Given the description of an element on the screen output the (x, y) to click on. 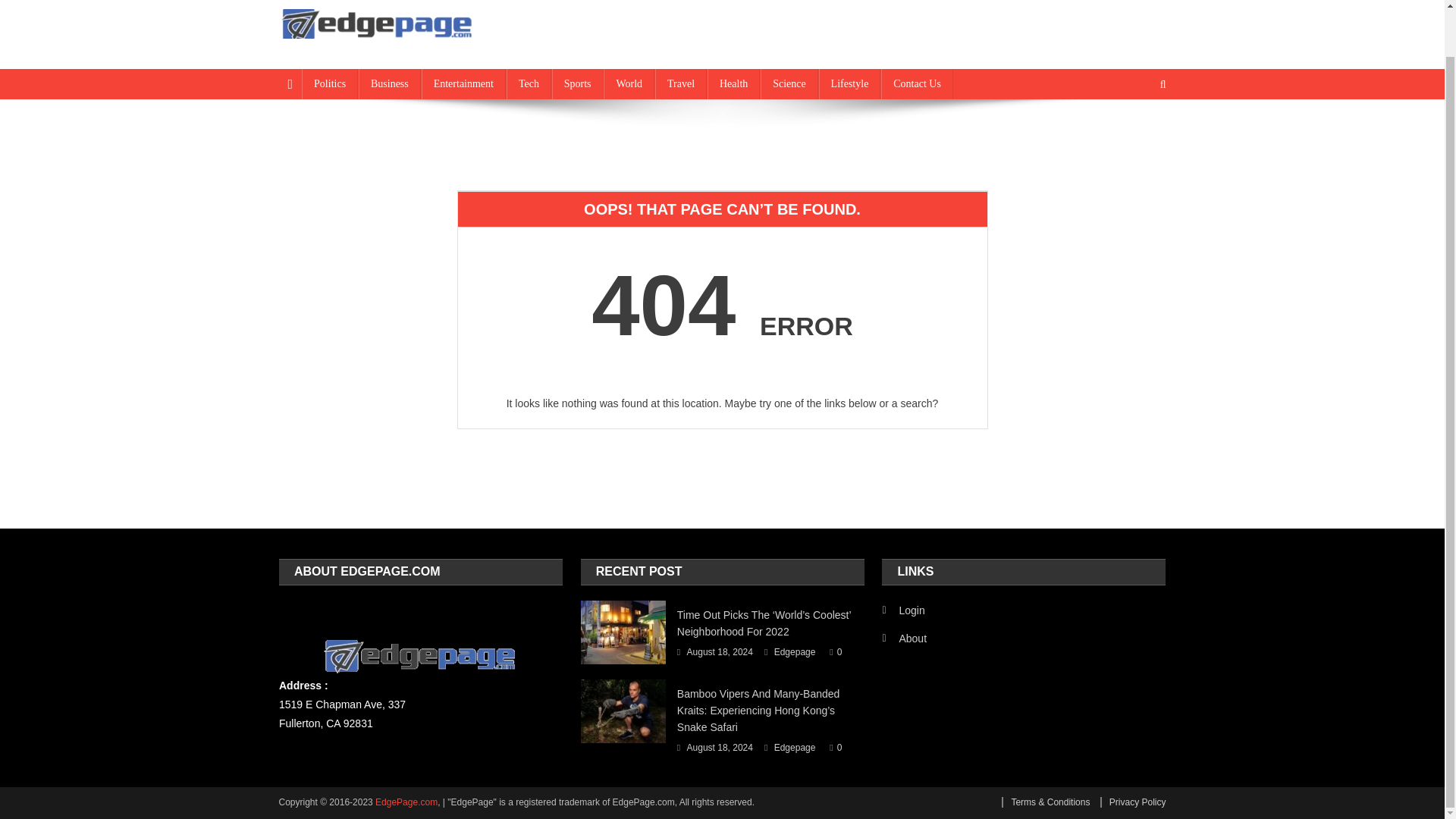
Politics (329, 83)
Contact Us (916, 83)
Privacy Policy (1133, 801)
Login (903, 609)
Health (733, 83)
Science (789, 83)
Entertainment (463, 83)
Business (389, 83)
Sports (577, 83)
World (628, 83)
